Given the description of an element on the screen output the (x, y) to click on. 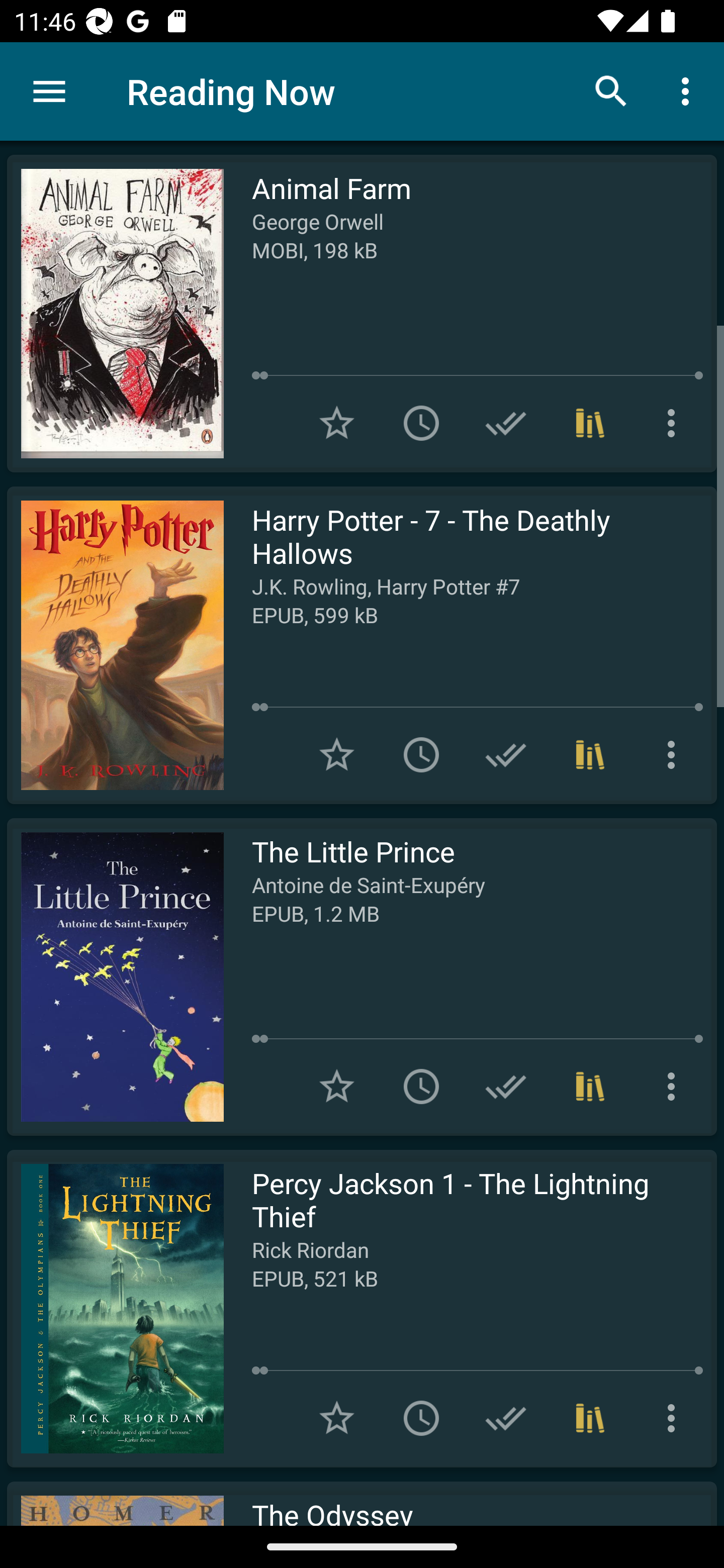
Menu (49, 91)
Search books & documents (611, 90)
More options (688, 90)
Read Animal Farm (115, 313)
Add to Favorites (336, 423)
Add to To read (421, 423)
Add to Have read (505, 423)
Collections (1) (590, 423)
More options (674, 423)
Read Harry Potter - 7 - The Deathly Hallows (115, 645)
Add to Favorites (336, 753)
Add to To read (421, 753)
Add to Have read (505, 753)
Collections (1) (590, 753)
More options (674, 753)
Read The Little Prince (115, 976)
Add to Favorites (336, 1086)
Add to To read (421, 1086)
Add to Have read (505, 1086)
Collections (1) (590, 1086)
More options (674, 1086)
Read Percy Jackson 1 - The Lightning Thief (115, 1308)
Add to Favorites (336, 1417)
Add to To read (421, 1417)
Add to Have read (505, 1417)
Collections (1) (590, 1417)
More options (674, 1417)
